Given the description of an element on the screen output the (x, y) to click on. 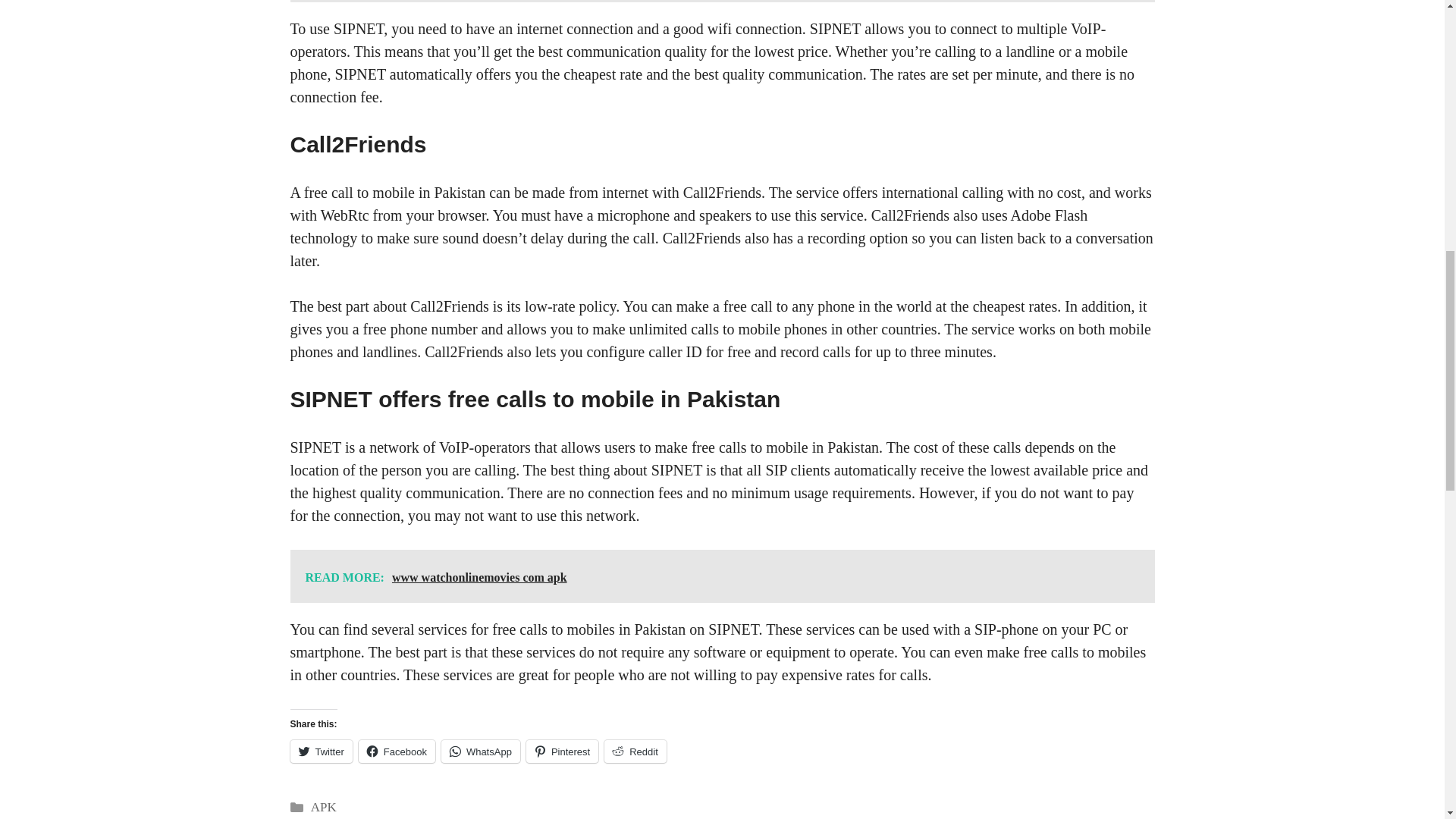
Twitter (320, 751)
Click to share on Twitter (320, 751)
Reddit (635, 751)
Scroll back to top (1406, 720)
READ MORE:  www watchonlinemovies com apk (721, 575)
Click to share on Facebook (396, 751)
WhatsApp (480, 751)
Facebook (396, 751)
Click to share on Pinterest (561, 751)
APK (323, 807)
Click to share on Reddit (635, 751)
Pinterest (561, 751)
Click to share on WhatsApp (480, 751)
